Given the description of an element on the screen output the (x, y) to click on. 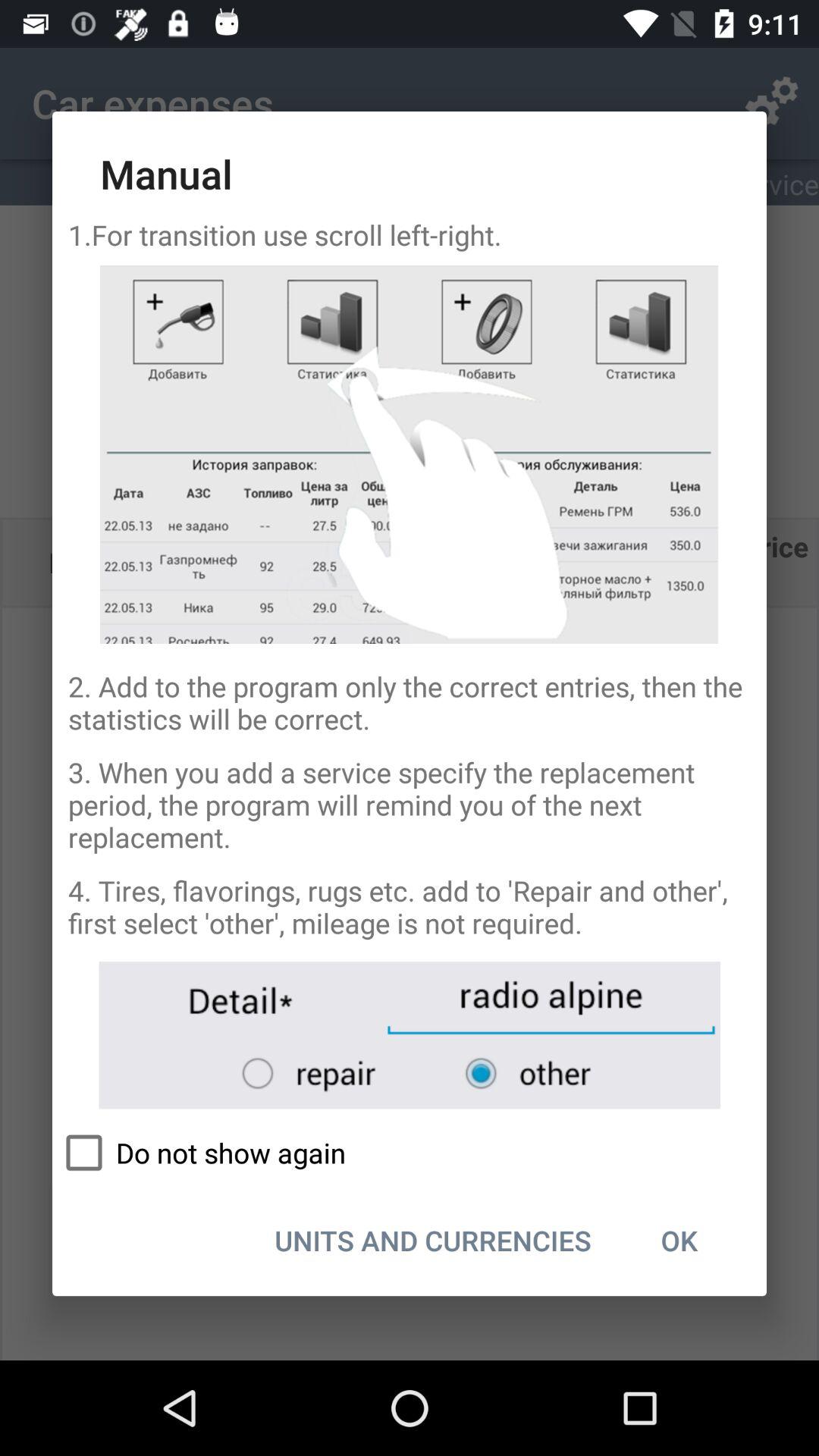
launch the item below the do not show item (678, 1240)
